Given the description of an element on the screen output the (x, y) to click on. 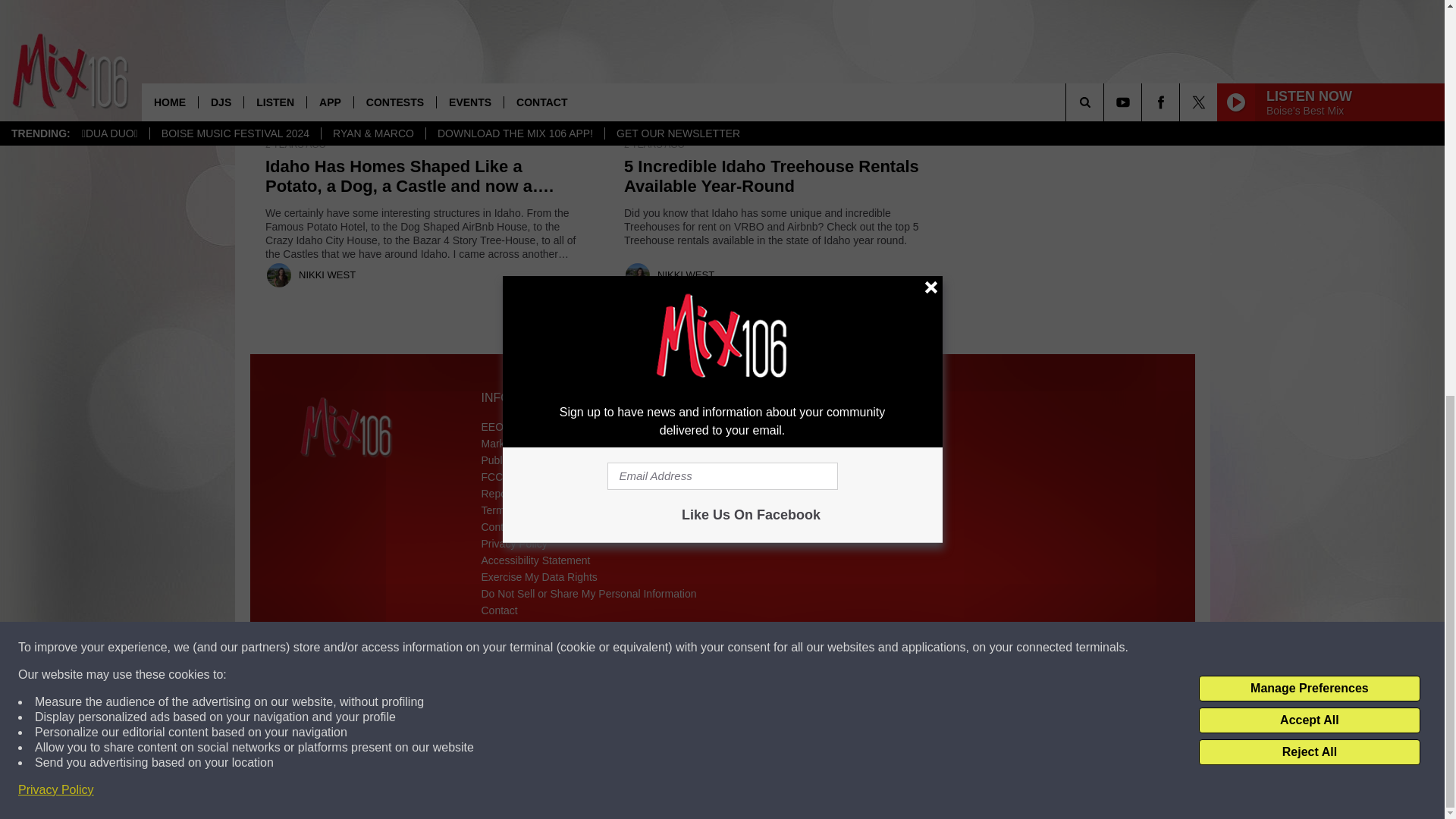
Privacy Policy (55, 24)
